Given the description of an element on the screen output the (x, y) to click on. 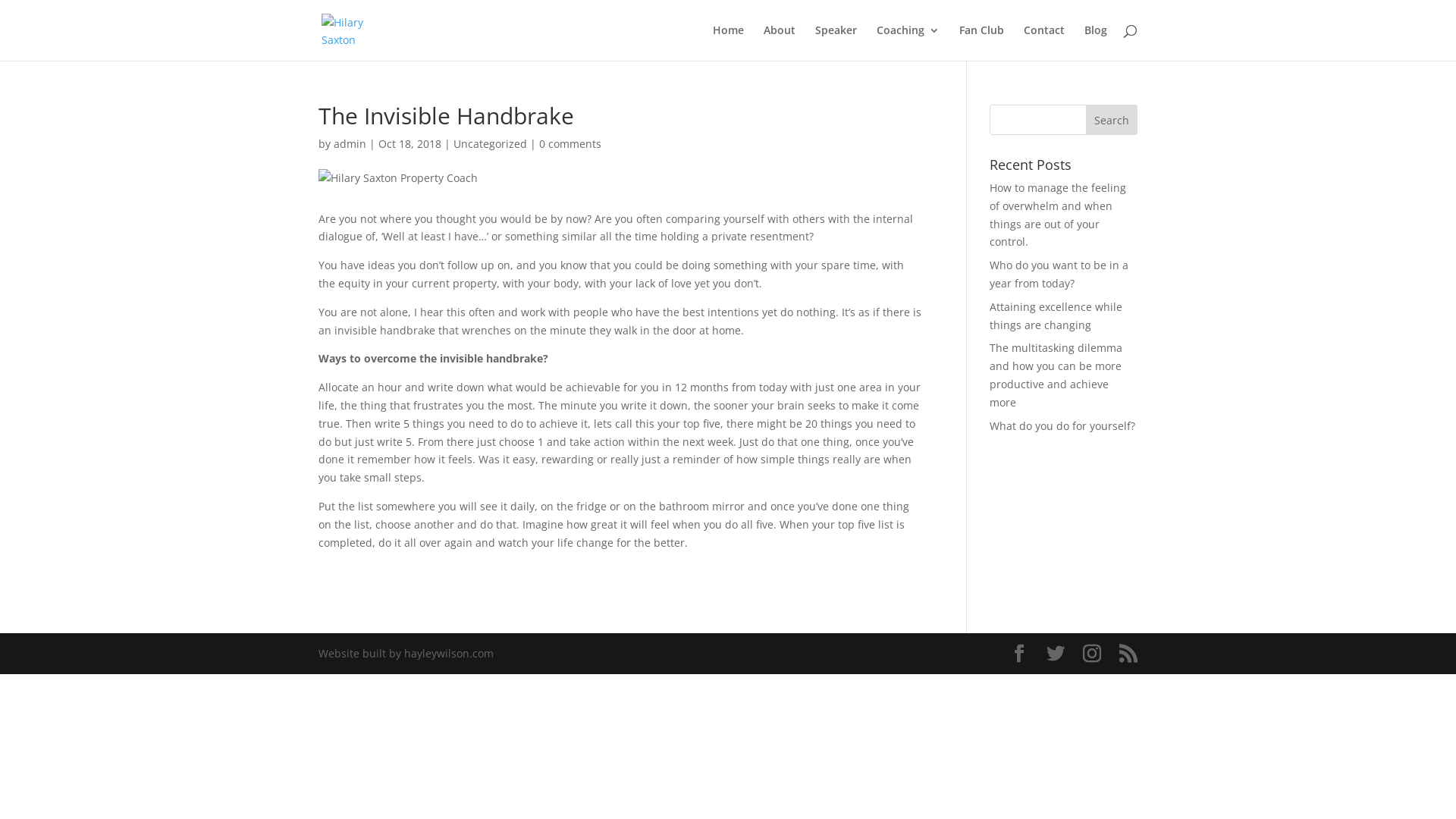
About Element type: text (779, 42)
Attaining excellence while things are changing Element type: text (1055, 315)
What do you do for yourself? Element type: text (1062, 425)
Search Element type: text (1111, 119)
admin Element type: text (349, 143)
Uncategorized Element type: text (490, 143)
Contact Element type: text (1043, 42)
0 comments Element type: text (570, 143)
Speaker Element type: text (835, 42)
Blog Element type: text (1095, 42)
Fan Club Element type: text (981, 42)
Home Element type: text (727, 42)
Who do you want to be in a year from today? Element type: text (1058, 273)
Coaching Element type: text (907, 42)
